Given the description of an element on the screen output the (x, y) to click on. 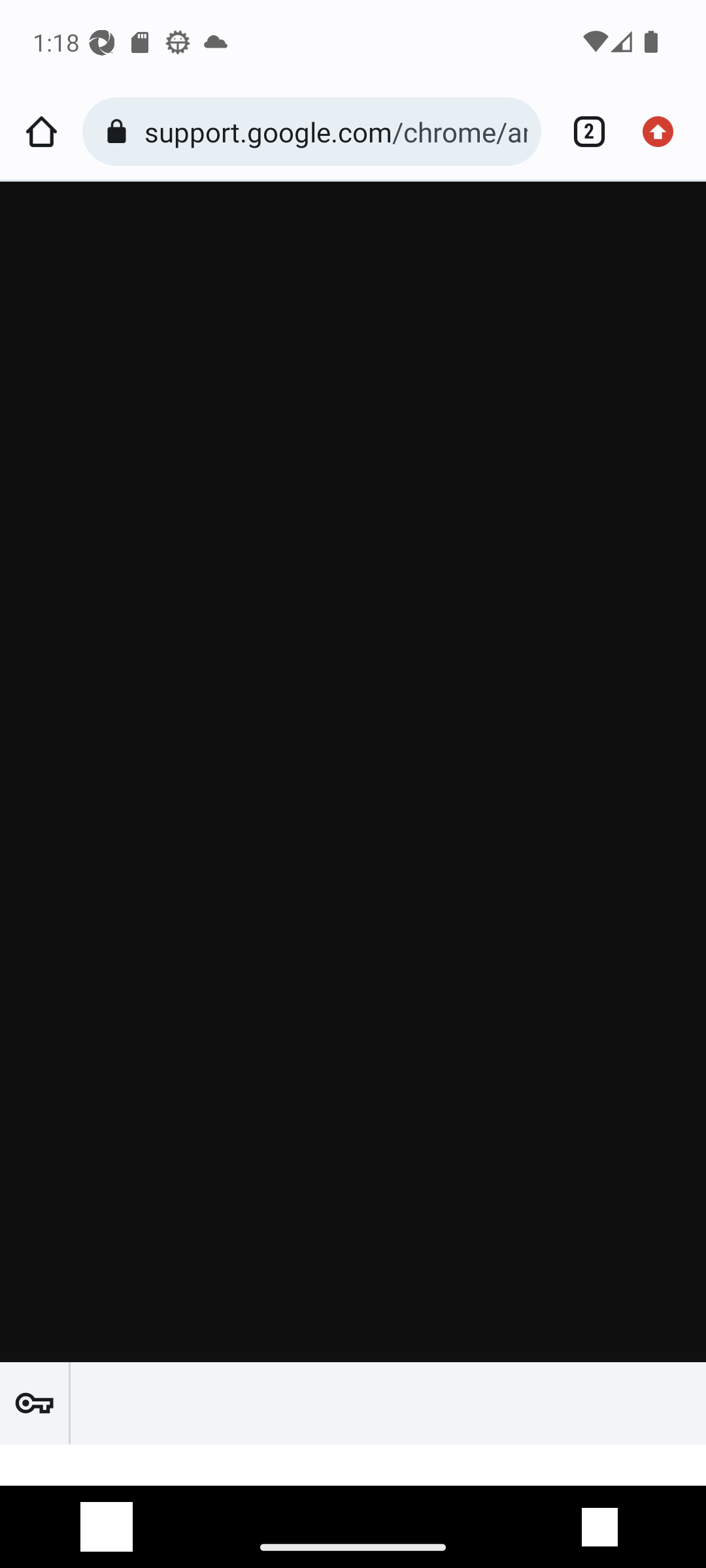
Home (41, 131)
Connection is secure (120, 131)
Switch or close tabs (582, 131)
Update available. More options (664, 131)
